Given the description of an element on the screen output the (x, y) to click on. 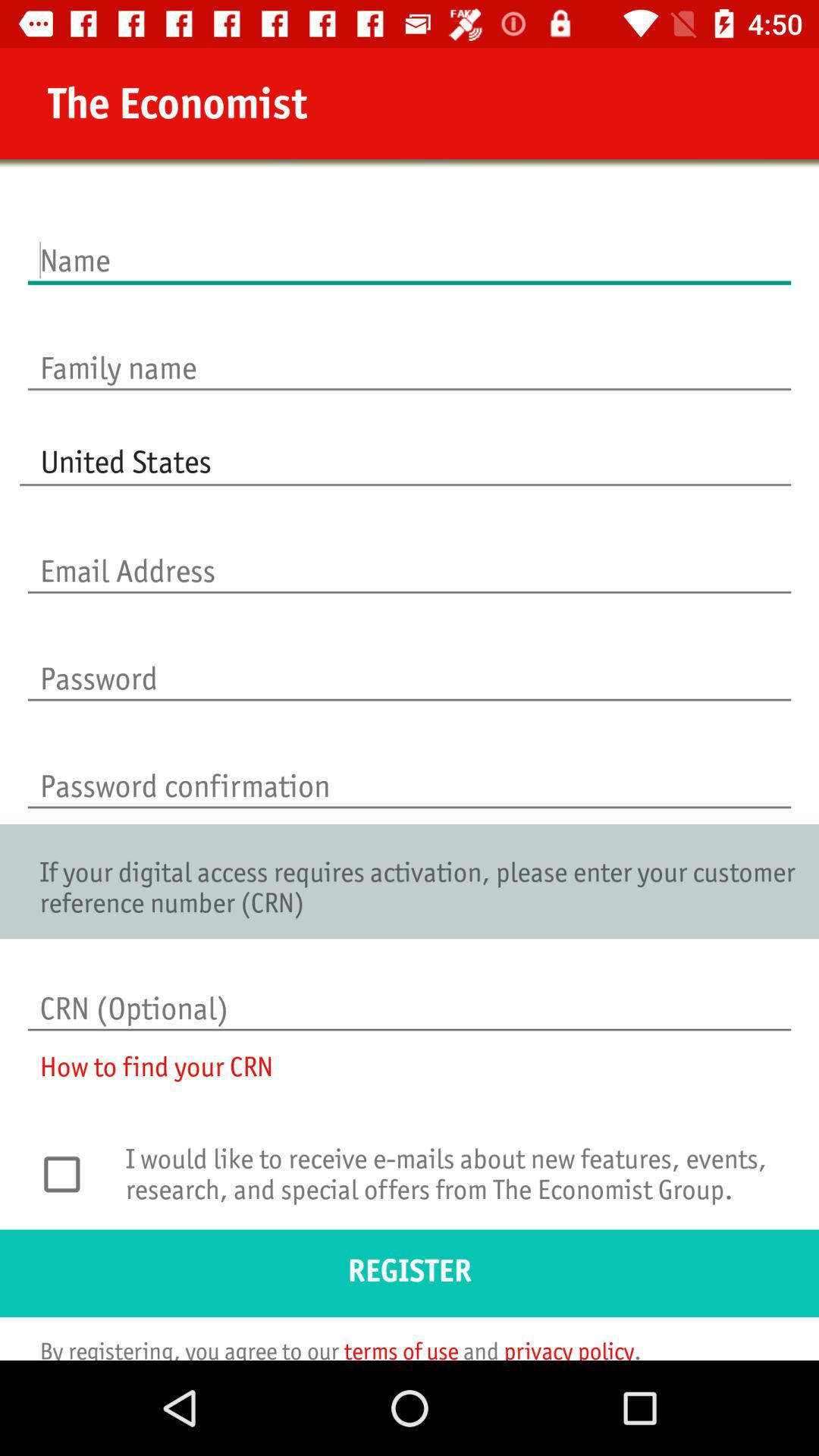
activate family name line (409, 352)
